Given the description of an element on the screen output the (x, y) to click on. 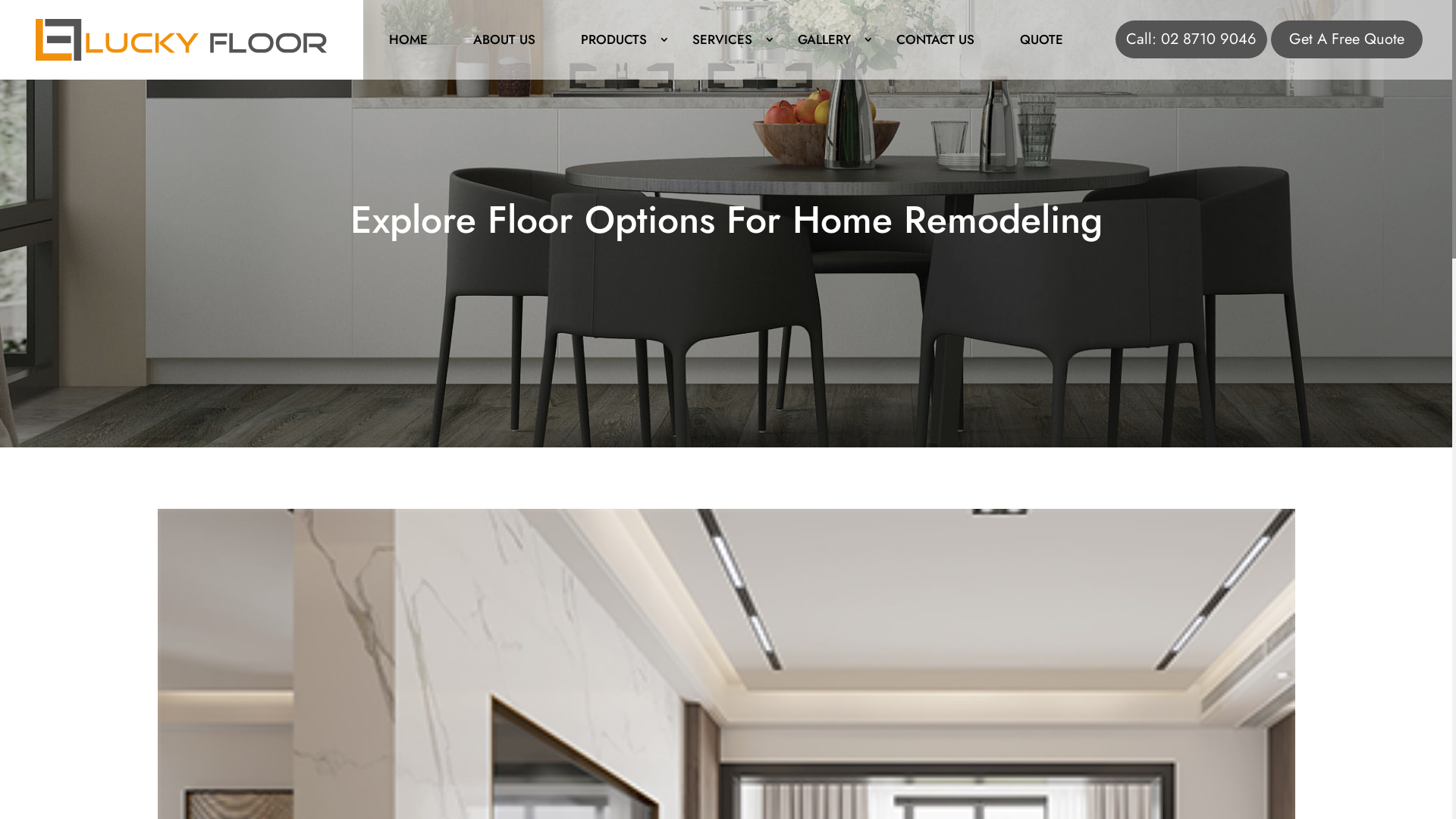
Call: 02 8710 9046 Element type: text (1191, 38)
PRODUCTS Element type: text (613, 38)
SERVICES Element type: text (722, 38)
Get A Free Quote Element type: text (1346, 38)
CONTACT US Element type: text (935, 38)
QUOTE Element type: text (1041, 38)
GALLERY Element type: text (824, 38)
ABOUT US Element type: text (504, 38)
1_Home 1.jpg Element type: hover (180, 39)
HOME Element type: text (408, 38)
